Given the description of an element on the screen output the (x, y) to click on. 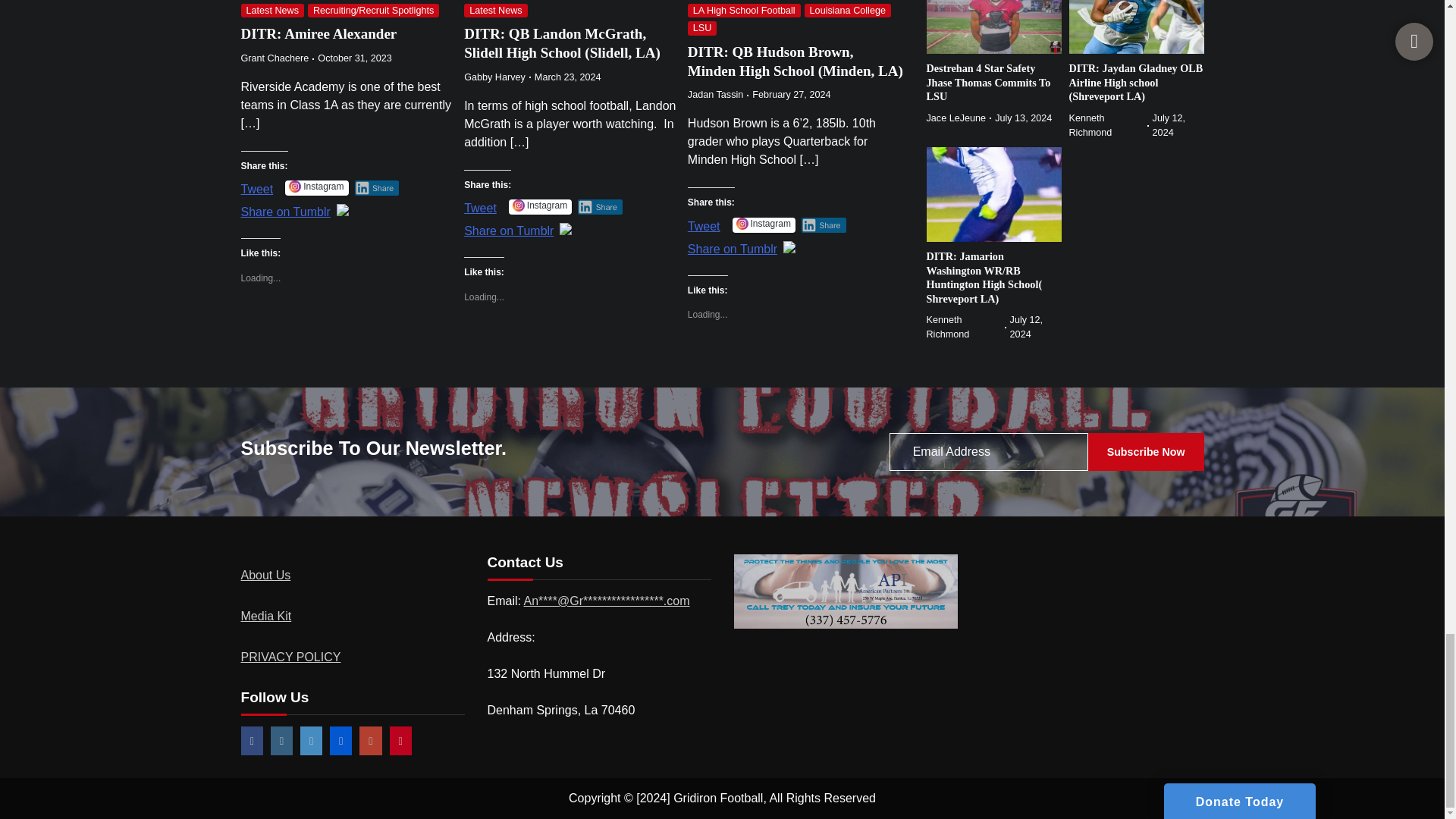
Click to share on Instagram (316, 187)
Share on Tumblr (732, 246)
Click to share on Instagram (763, 224)
Share on Tumblr (508, 228)
Share on Tumblr (285, 210)
Click to share on Instagram (540, 206)
